Given the description of an element on the screen output the (x, y) to click on. 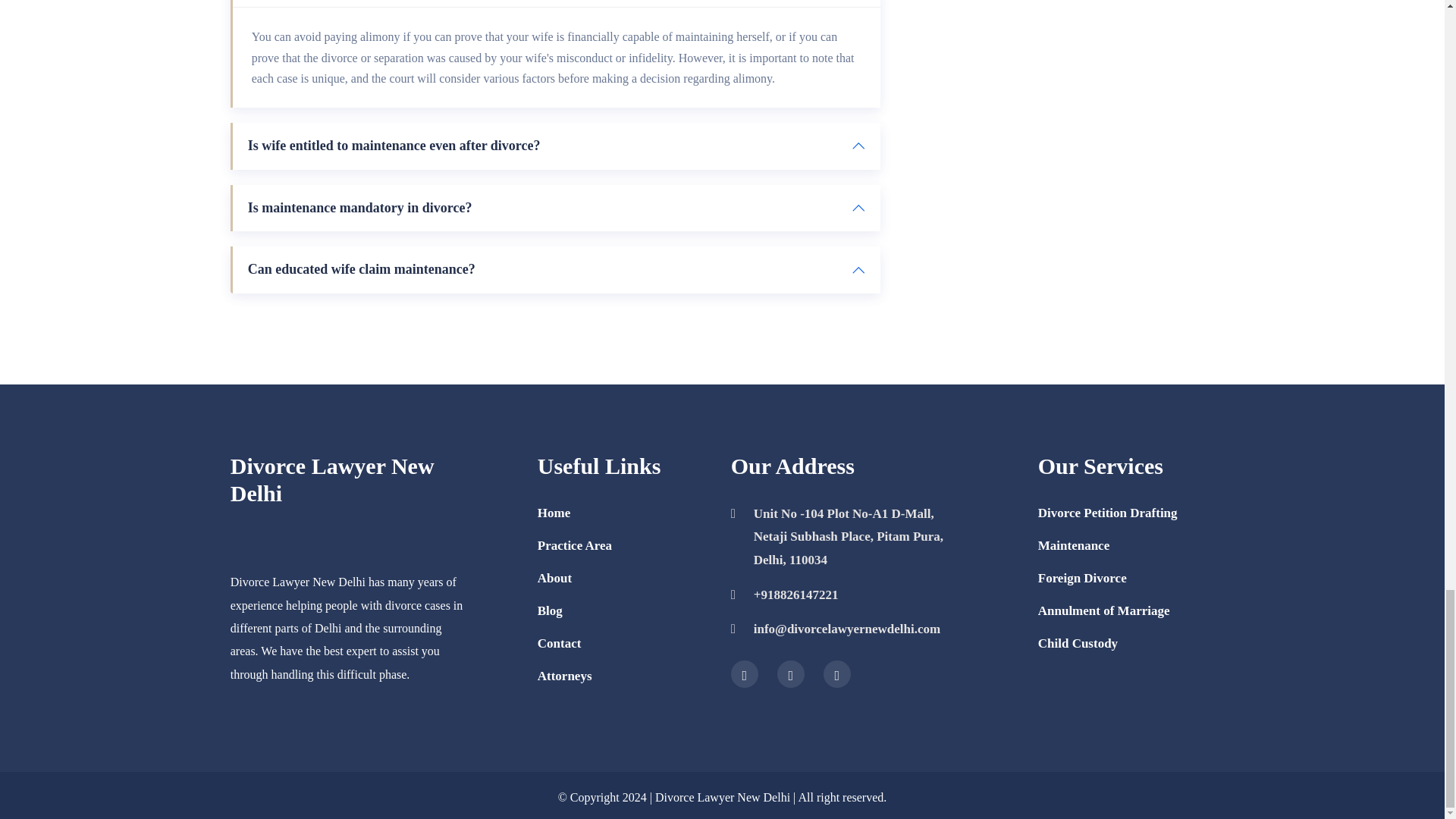
Is wife entitled to maintenance even after divorce? (556, 145)
How can a husband avoid alimony? (556, 3)
Can educated wife claim maintenance? (556, 269)
Is maintenance mandatory in divorce? (556, 208)
